Given the description of an element on the screen output the (x, y) to click on. 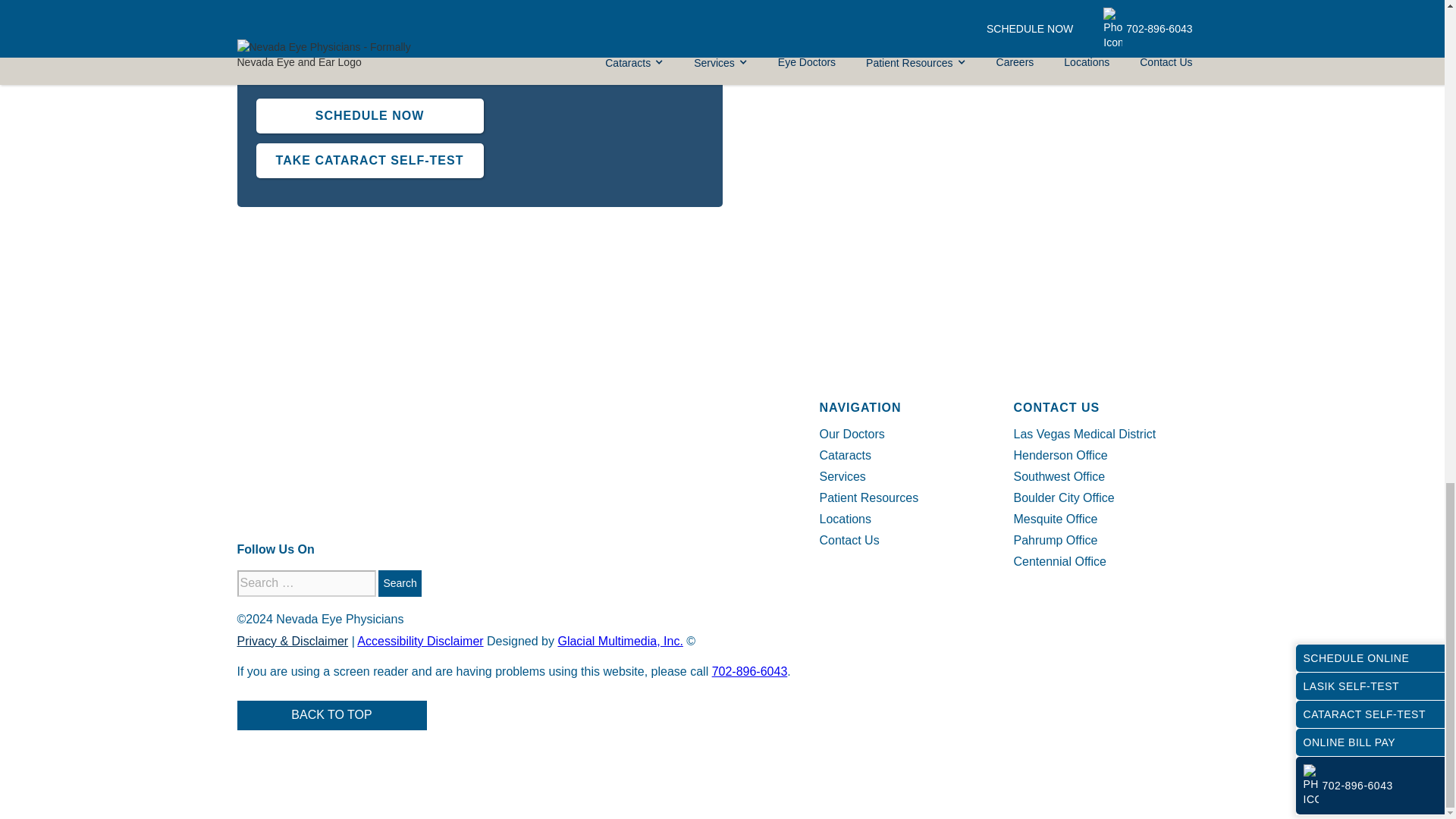
Search (399, 583)
Search (399, 583)
